Given the description of an element on the screen output the (x, y) to click on. 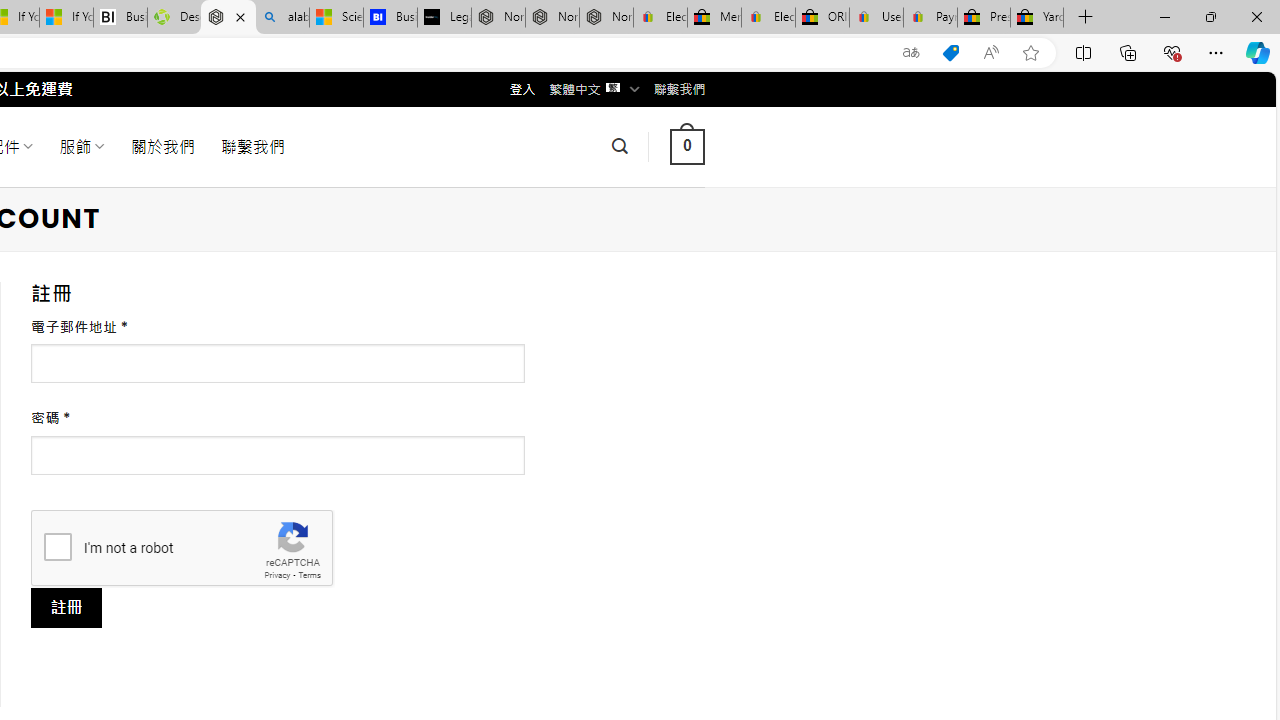
Payments Terms of Use | eBay.com (930, 17)
Press Room - eBay Inc. (983, 17)
Nordace - My Account (228, 17)
